Given the description of an element on the screen output the (x, y) to click on. 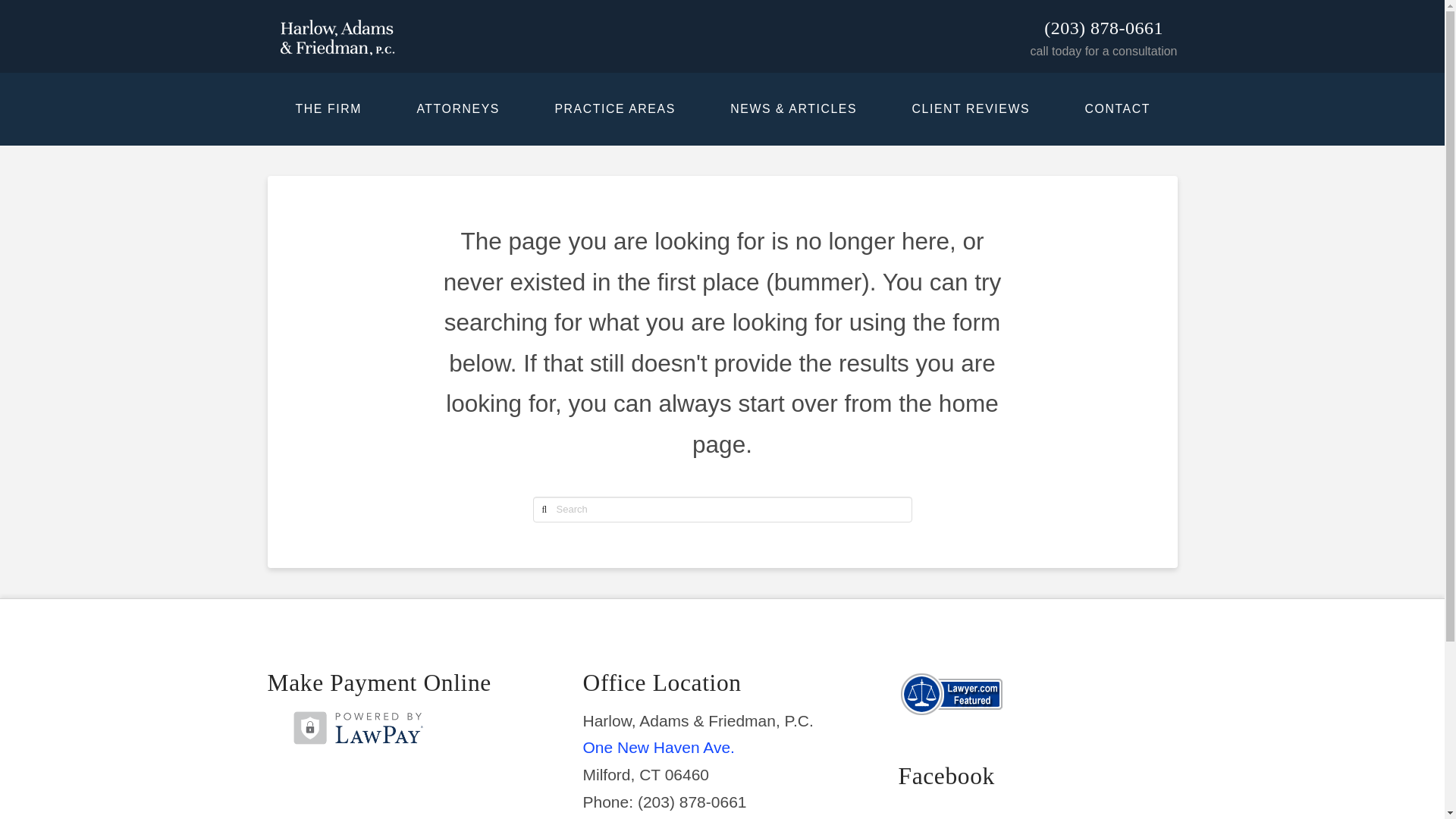
CONTACT (1116, 108)
THE FIRM (327, 108)
CLIENT REVIEWS (970, 108)
ATTORNEYS (456, 108)
PRACTICE AREAS (614, 108)
One New Haven Ave. (657, 746)
